Given the description of an element on the screen output the (x, y) to click on. 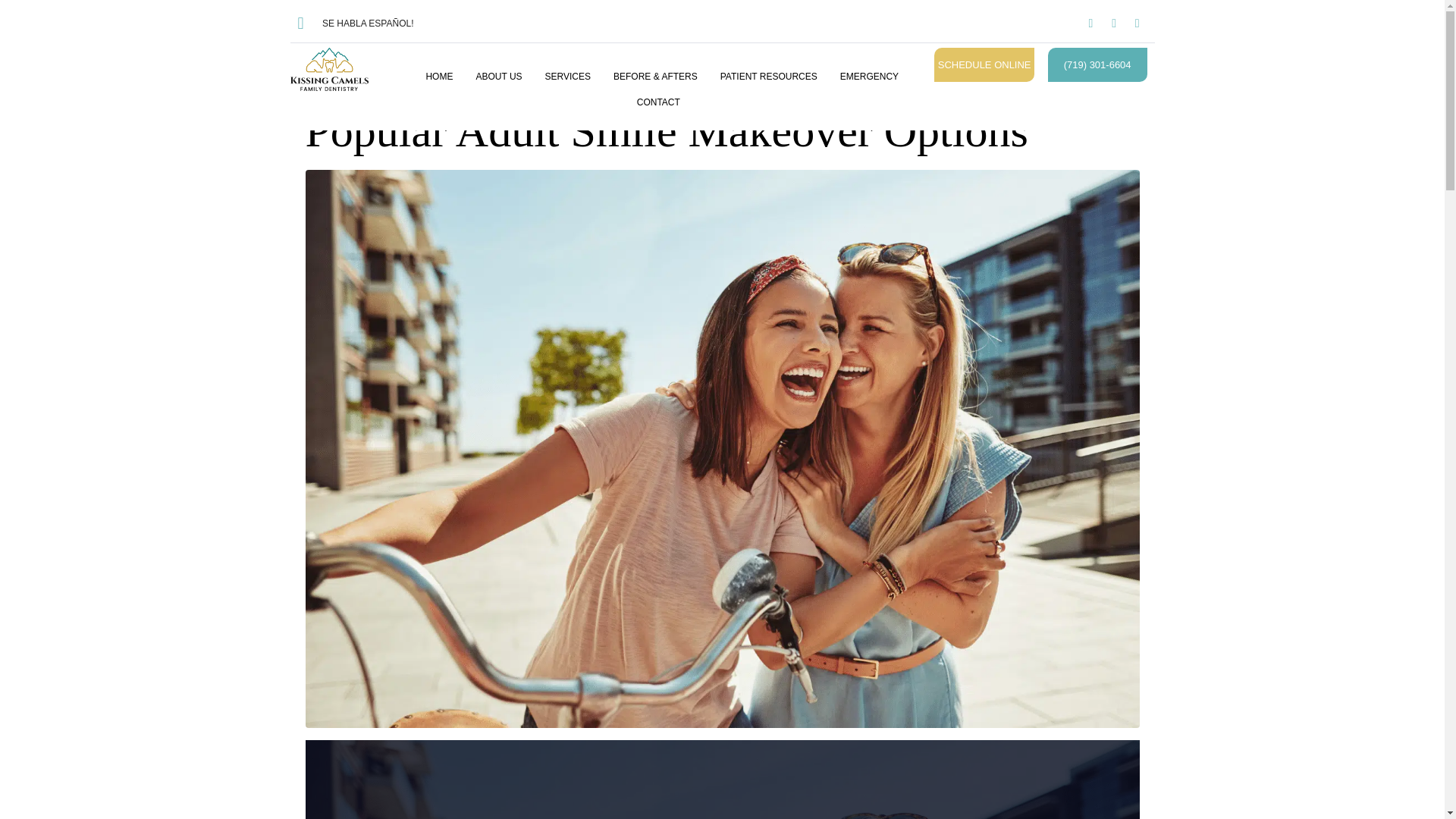
SERVICES (567, 76)
Popular Adult Smile Makeover Options (721, 447)
ABOUT US (498, 76)
HOME (438, 76)
Popular Adult Smile Makeover Options (665, 131)
PATIENT RESOURCES (768, 76)
EMERGENCY (869, 76)
CONTACT (658, 102)
